Given the description of an element on the screen output the (x, y) to click on. 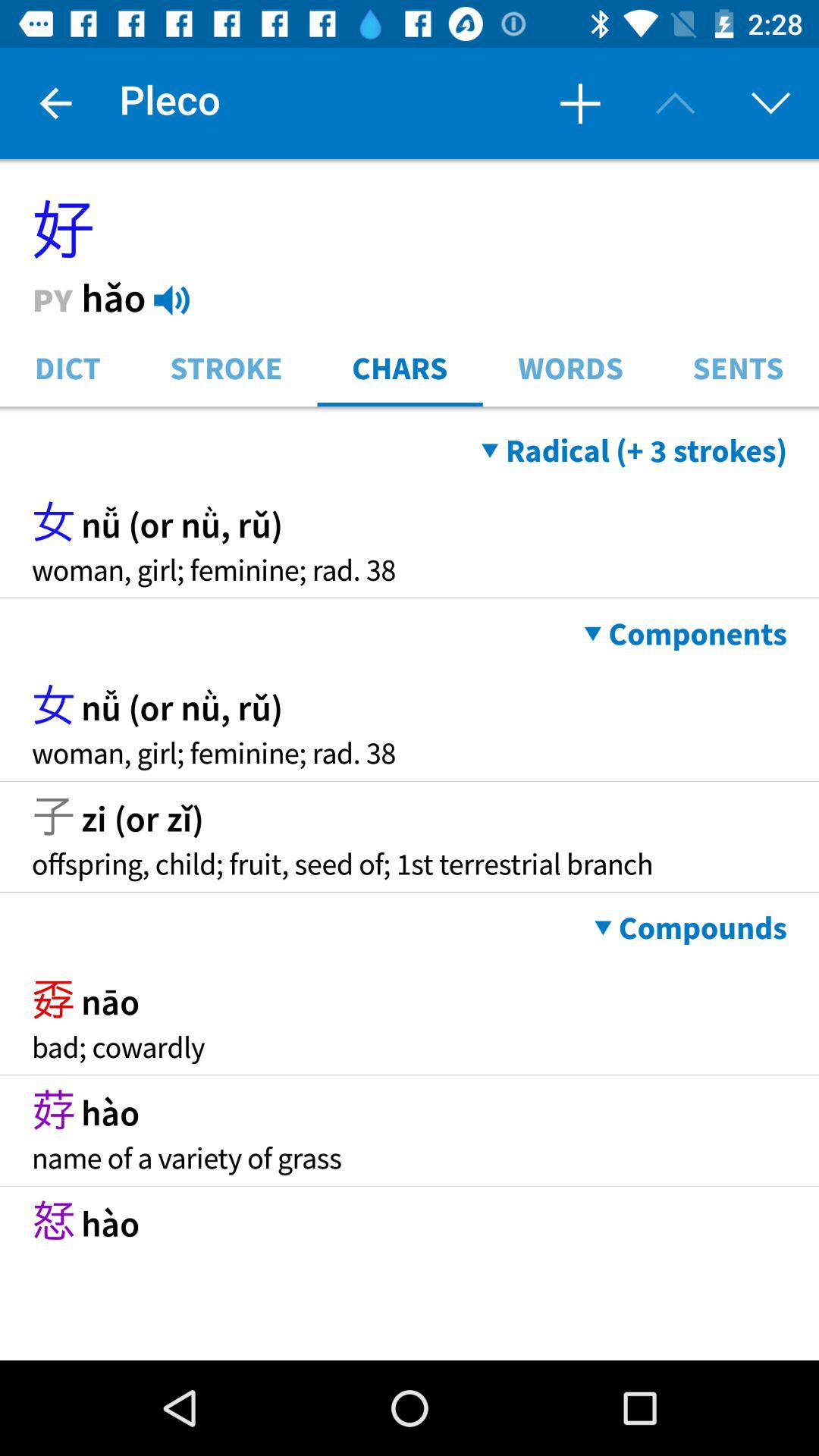
turn off the stroke icon (226, 366)
